Given the description of an element on the screen output the (x, y) to click on. 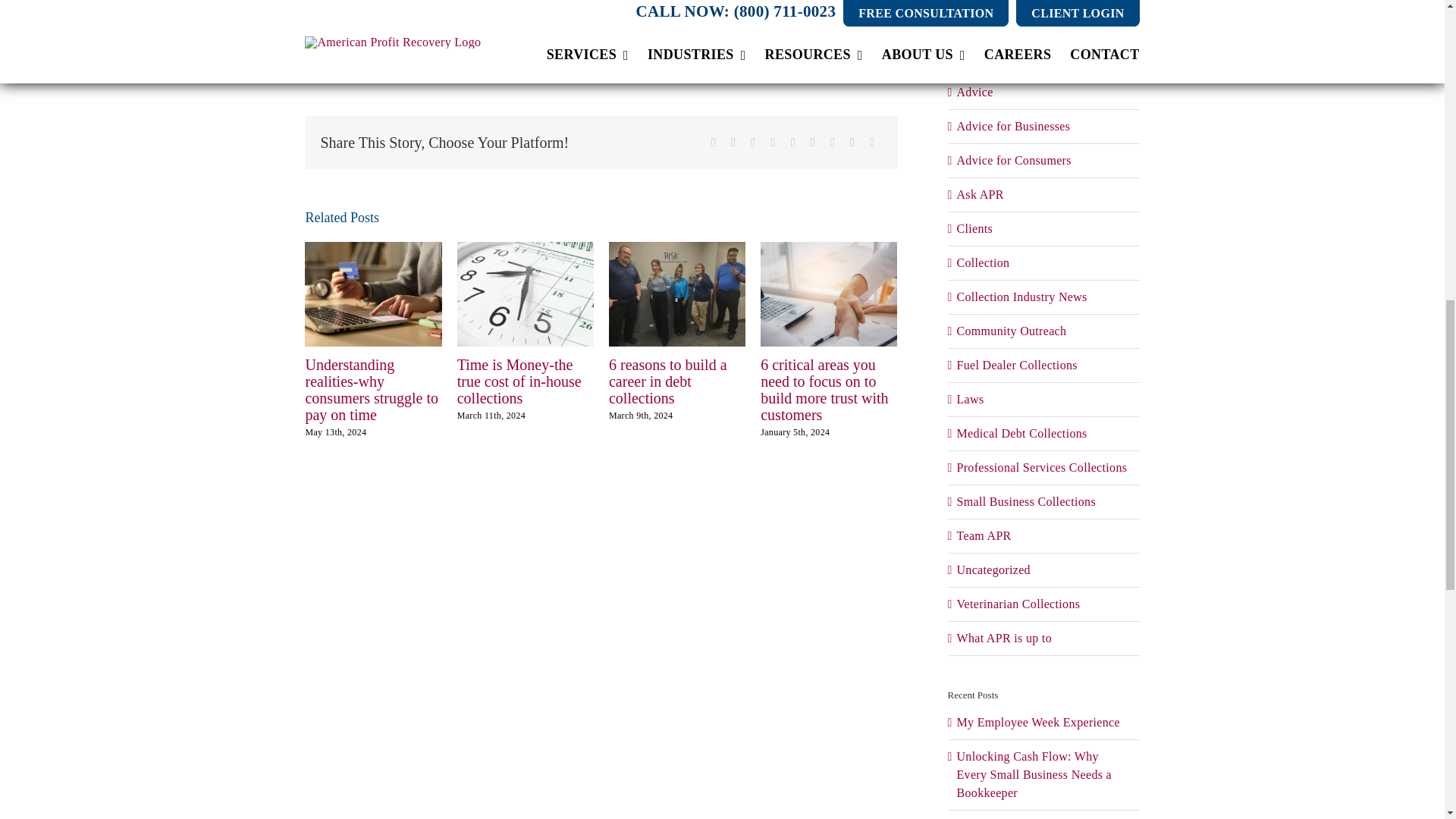
6 reasons to build a career in debt collections (667, 381)
Submit (747, 2)
Time is Money-the true cost of in-house collections (518, 381)
